Given the description of an element on the screen output the (x, y) to click on. 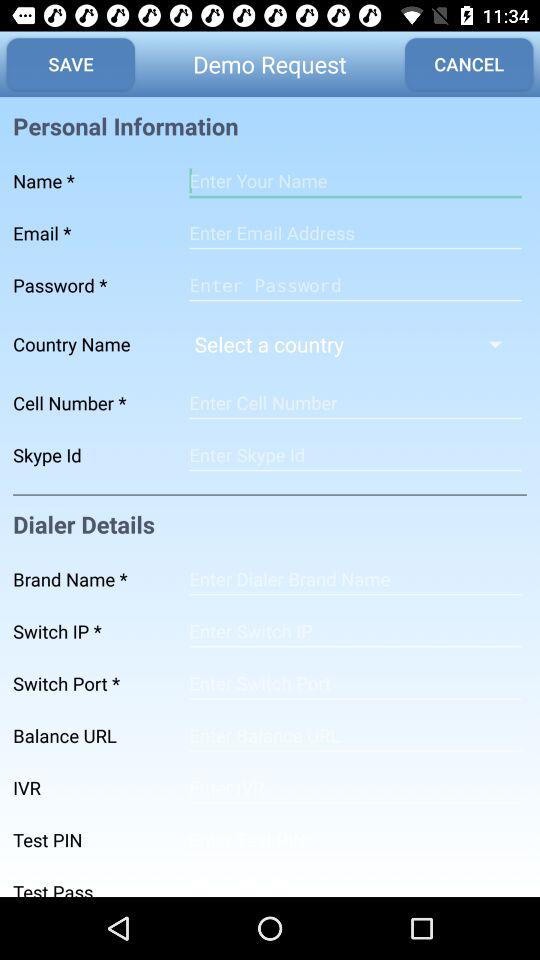
address page (355, 579)
